Given the description of an element on the screen output the (x, y) to click on. 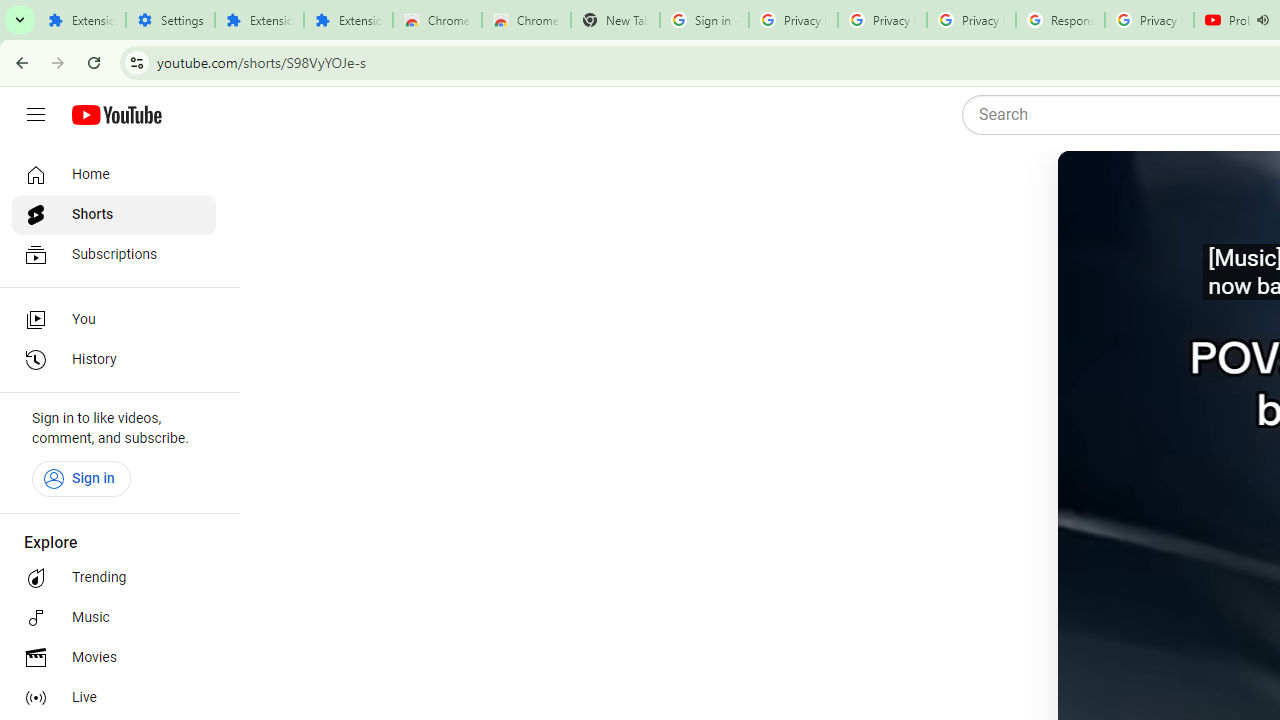
Music (113, 617)
Mute (1161, 191)
Trending (113, 578)
Movies (113, 657)
Extensions (81, 20)
Shorts (113, 214)
YouTube Home (116, 115)
Forward (57, 62)
Pause (k) (1097, 191)
New Tab (615, 20)
Sign in - Google Accounts (704, 20)
Subscriptions (113, 254)
